Given the description of an element on the screen output the (x, y) to click on. 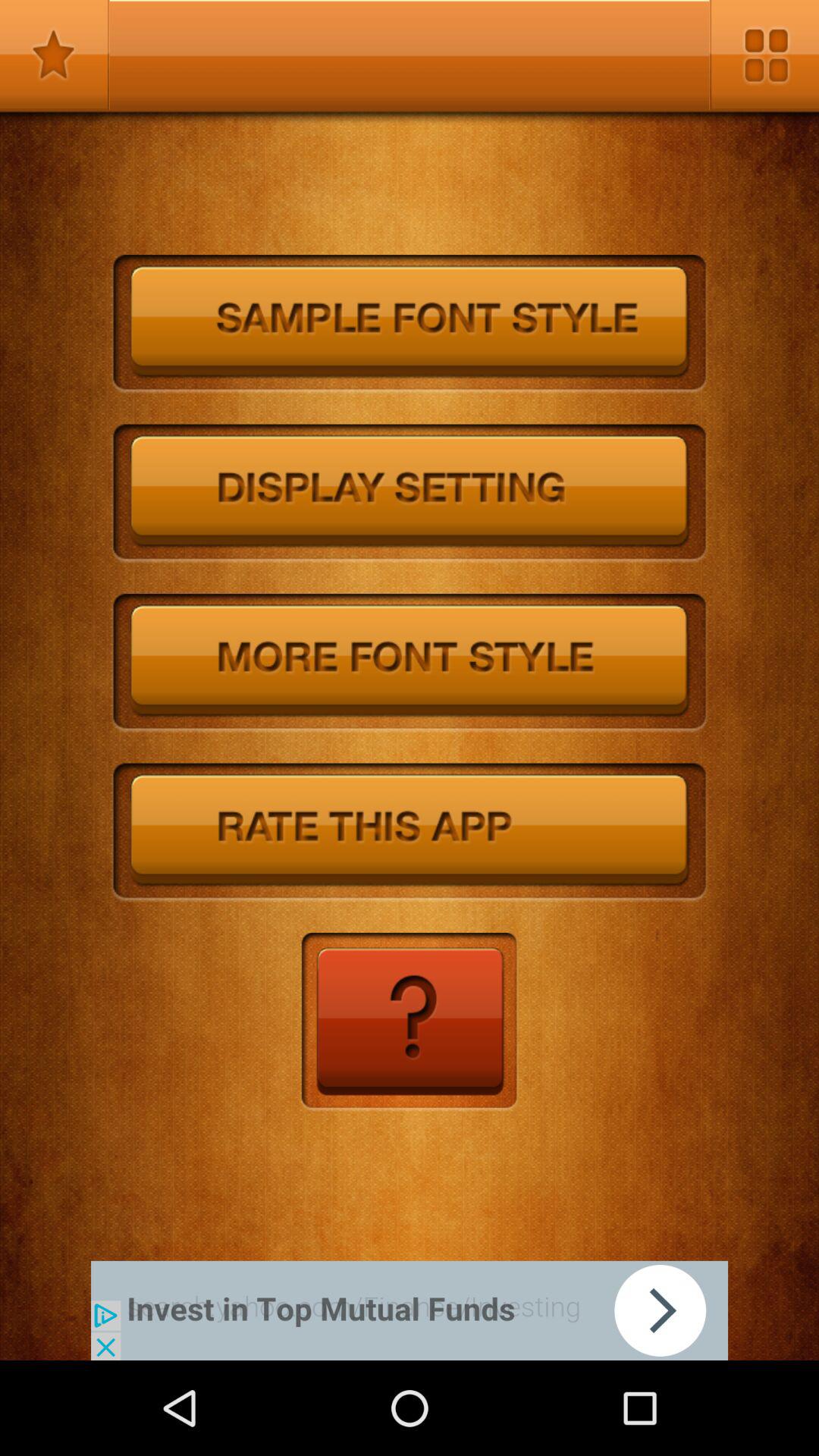
open settings (764, 54)
